Given the description of an element on the screen output the (x, y) to click on. 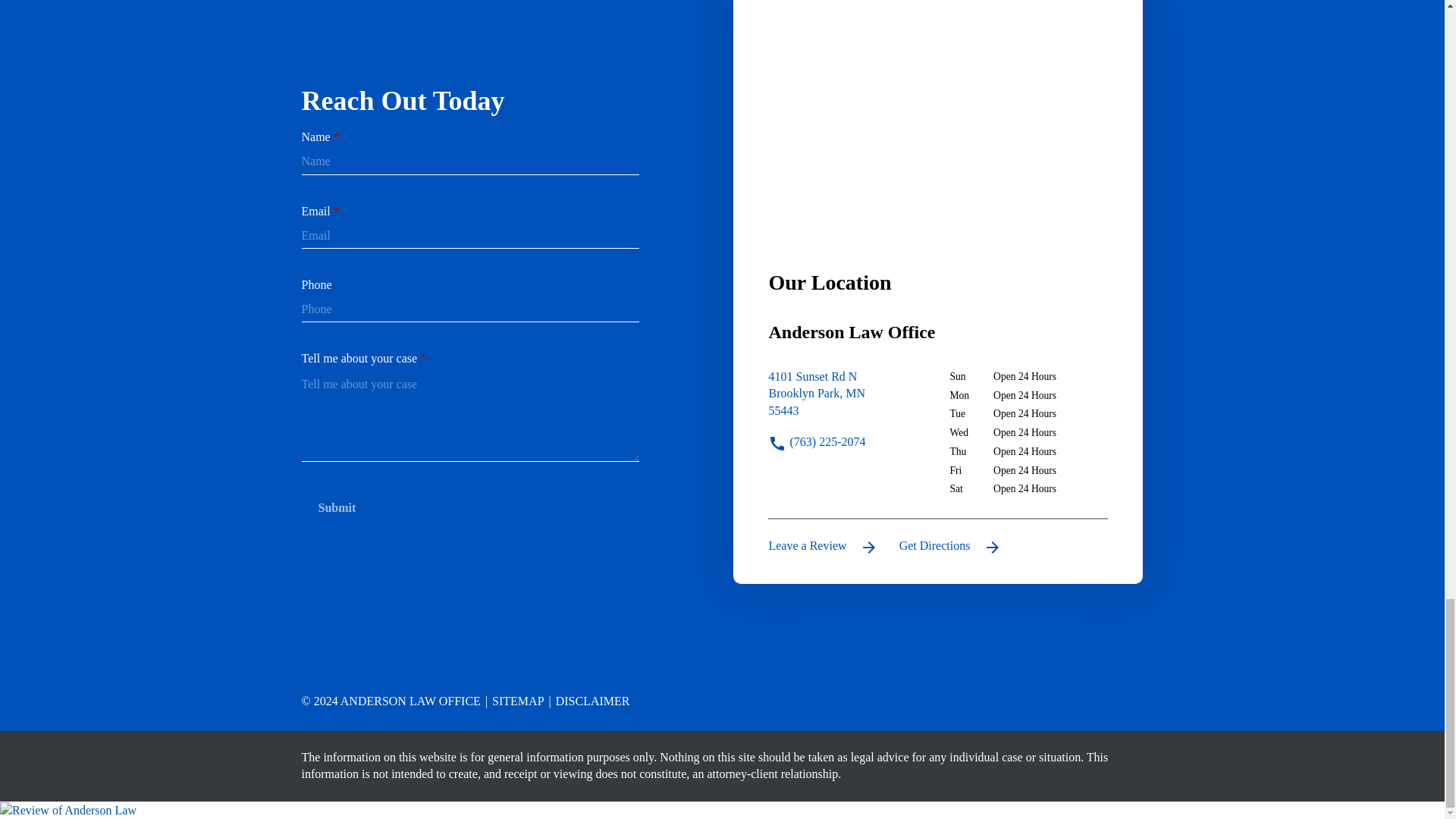
Leave a Review (822, 546)
link to call attorney (816, 440)
Submit (336, 507)
SITEMAP (513, 700)
DISCLAIMER (588, 700)
Get Directions (847, 401)
